Given the description of an element on the screen output the (x, y) to click on. 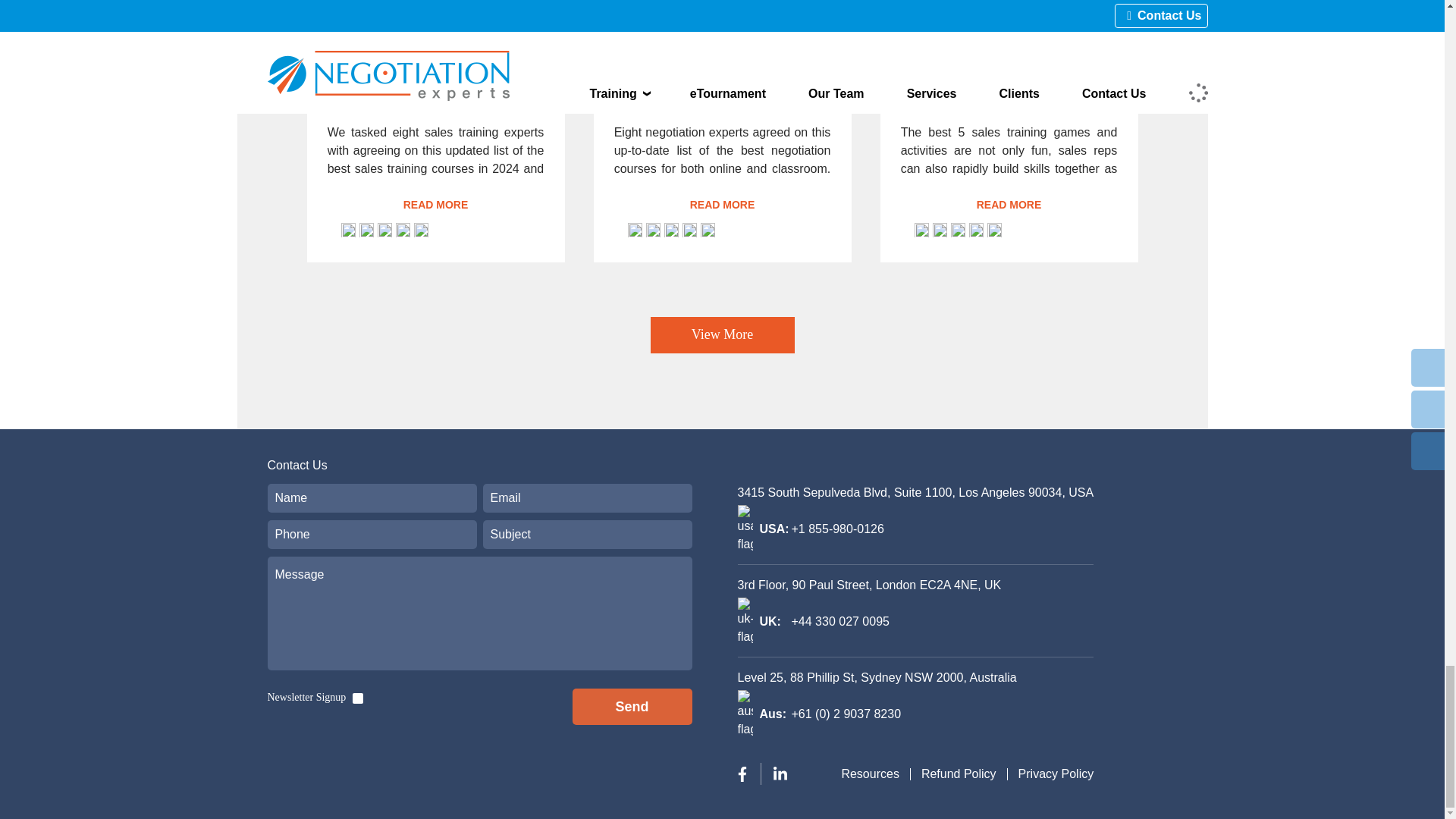
on (357, 697)
Send (631, 706)
